Given the description of an element on the screen output the (x, y) to click on. 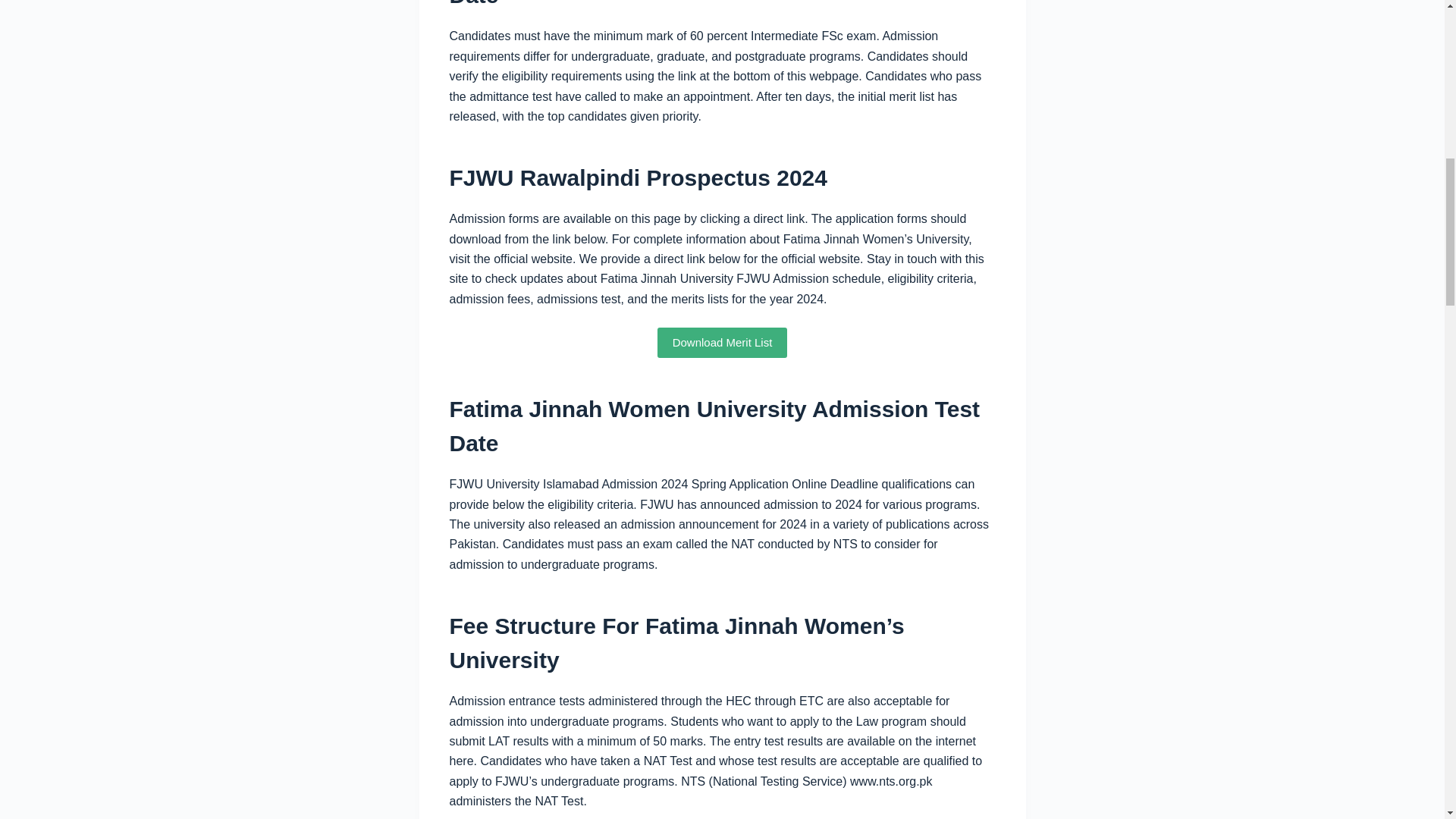
Download Merit List (722, 342)
